Given the description of an element on the screen output the (x, y) to click on. 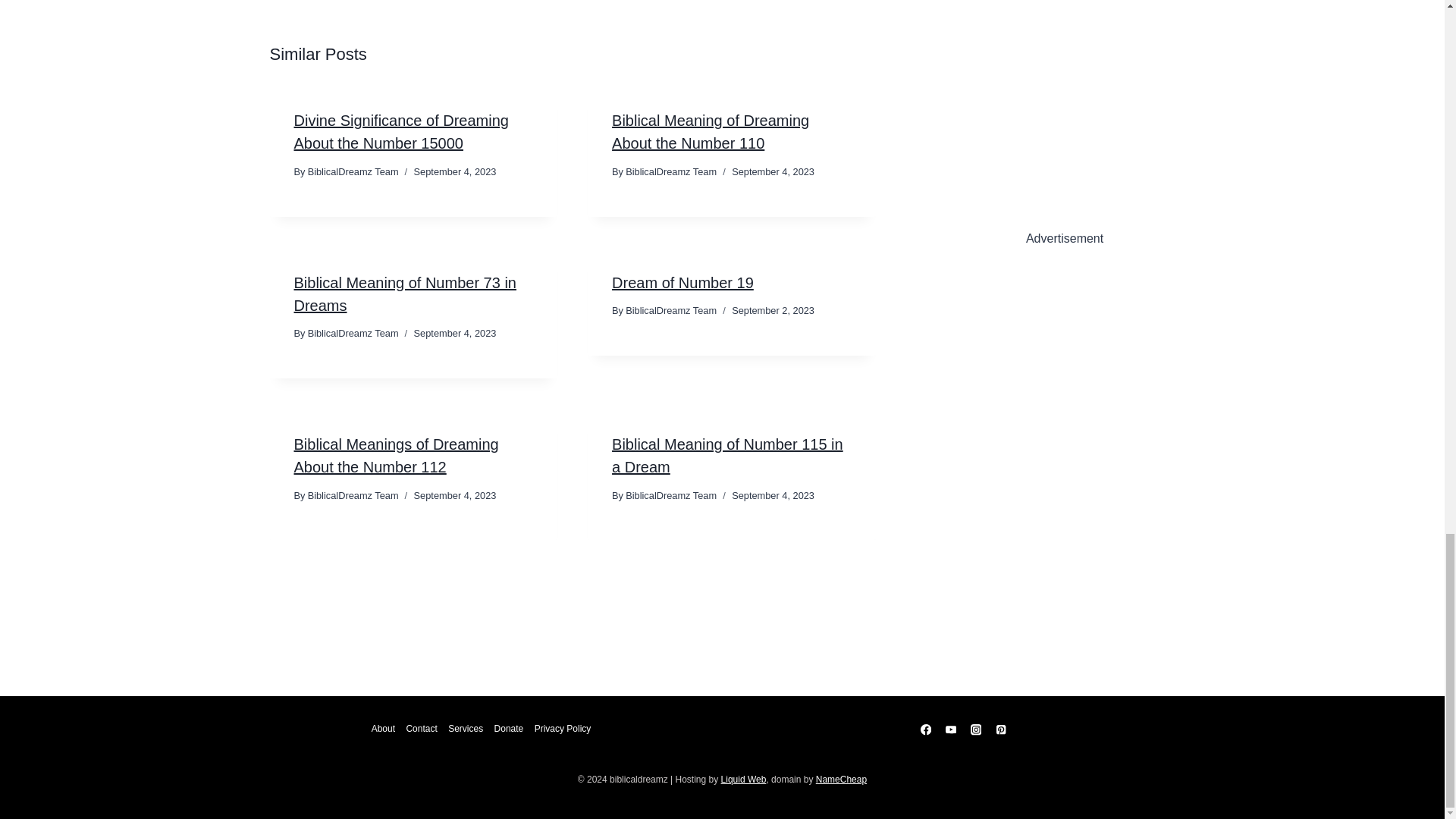
Biblical Meaning of Number 73 in Dreams (405, 293)
Biblical Meaning of Dreaming About the Number 110 (710, 131)
BiblicalDreamz Team (352, 333)
BiblicalDreamz Team (352, 171)
Dream of Number 19 (682, 282)
BiblicalDreamz Team (671, 310)
Divine Significance of Dreaming About the Number 15000 (401, 131)
BiblicalDreamz Team (671, 171)
